Given the description of an element on the screen output the (x, y) to click on. 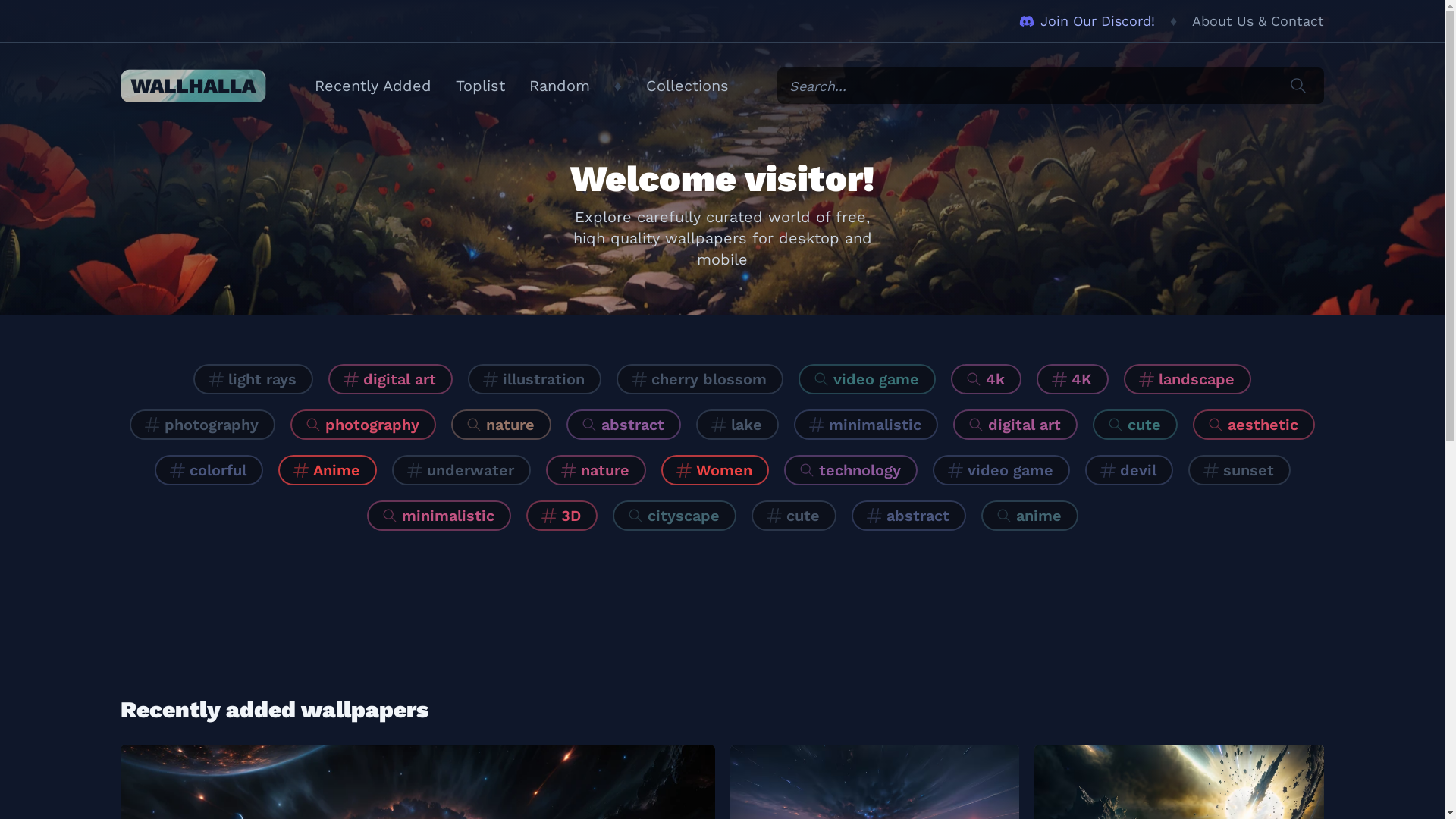
anime Element type: text (1029, 515)
cute Element type: text (792, 515)
underwater Element type: text (460, 470)
digital art Element type: text (390, 379)
colorful Element type: text (208, 470)
Wallhalla - Free High-Quality Desktop & Mobile Wallpapers Element type: hover (193, 86)
Anime Element type: text (326, 470)
digital art Element type: text (1015, 424)
minimalistic Element type: text (439, 515)
aesthetic Element type: text (1253, 424)
photography Element type: text (363, 424)
Collections Element type: text (687, 85)
cherry blossom Element type: text (699, 379)
Women Element type: text (714, 470)
nature Element type: text (501, 424)
devil Element type: text (1128, 470)
light rays Element type: text (253, 379)
video game Element type: text (1001, 470)
video game Element type: text (866, 379)
cute Element type: text (1134, 424)
Toplist Element type: text (480, 85)
minimalistic Element type: text (865, 424)
4k Element type: text (985, 379)
lake Element type: text (737, 424)
Advertisement Element type: hover (721, 613)
cityscape Element type: text (674, 515)
technology Element type: text (850, 470)
Join Our Discord! Element type: text (1086, 20)
About Us & Contact Element type: text (1258, 20)
photography Element type: text (202, 424)
abstract Element type: text (907, 515)
3D Element type: text (561, 515)
abstract Element type: text (623, 424)
Recently Added Element type: text (372, 85)
landscape Element type: text (1187, 379)
4K Element type: text (1072, 379)
sunset Element type: text (1238, 470)
Random Element type: text (559, 85)
Search Element type: hover (1297, 85)
illustration Element type: text (534, 379)
nature Element type: text (596, 470)
